Given the description of an element on the screen output the (x, y) to click on. 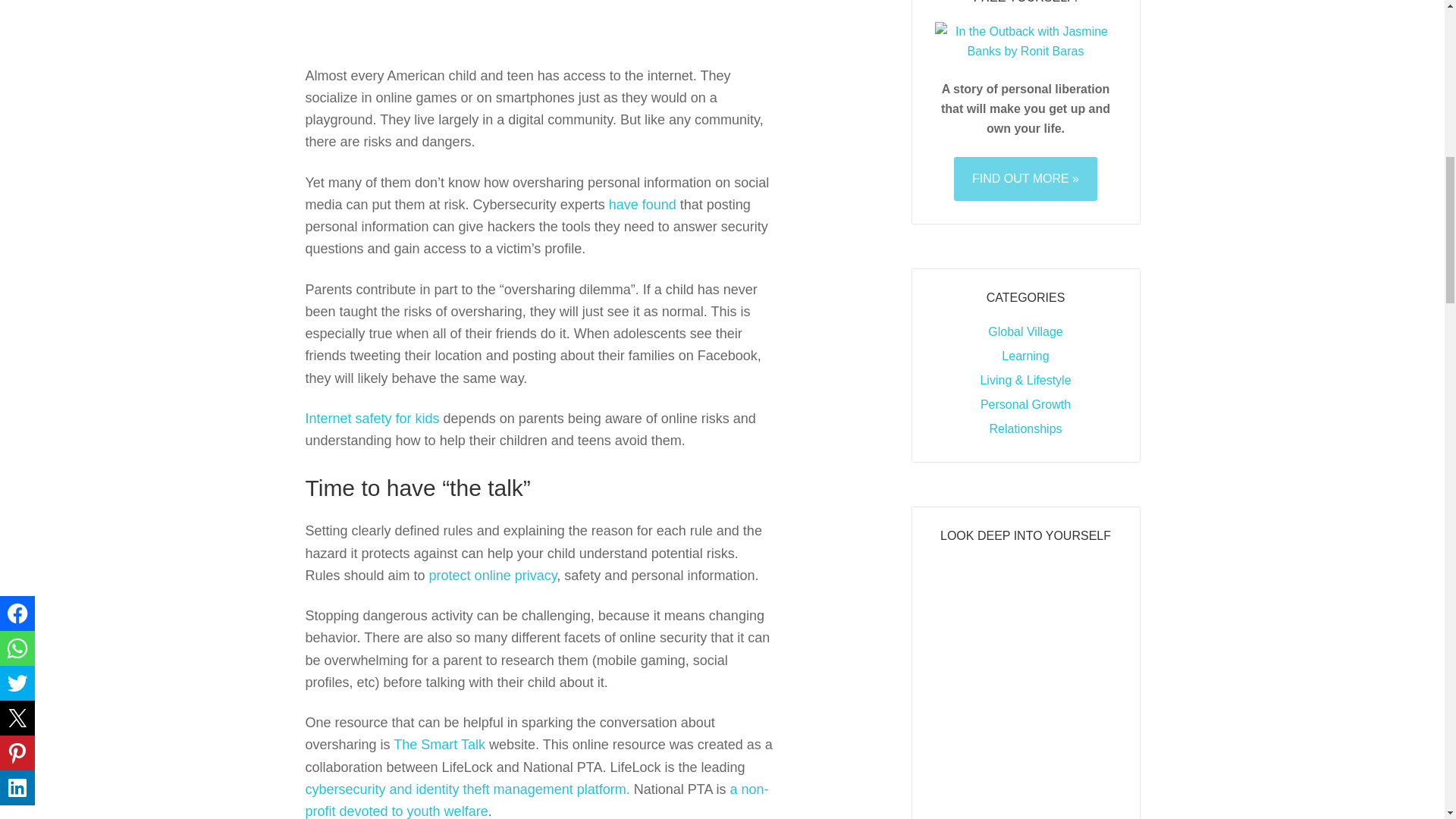
a non-profit devoted to youth welfare (536, 800)
The Smart Talk (438, 744)
Personal Growth (1024, 404)
Relationships (1024, 428)
Global Village (1025, 331)
have found (642, 204)
Learning (1024, 355)
protect online privacy (493, 575)
cybersecurity and identity theft management platform. (466, 789)
Internet safety for kids (371, 418)
